Given the description of an element on the screen output the (x, y) to click on. 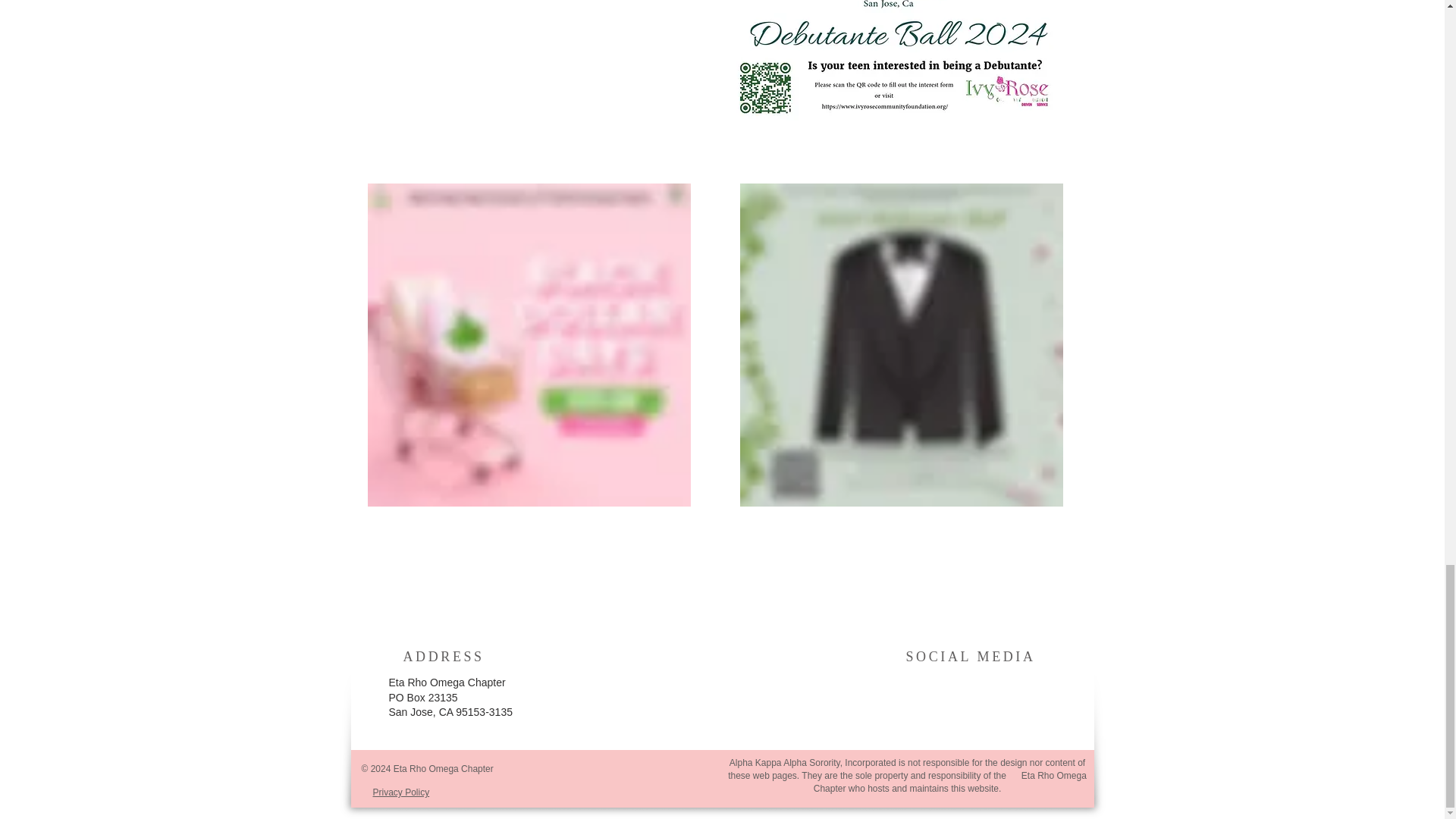
Privacy Policy (400, 792)
